Given the description of an element on the screen output the (x, y) to click on. 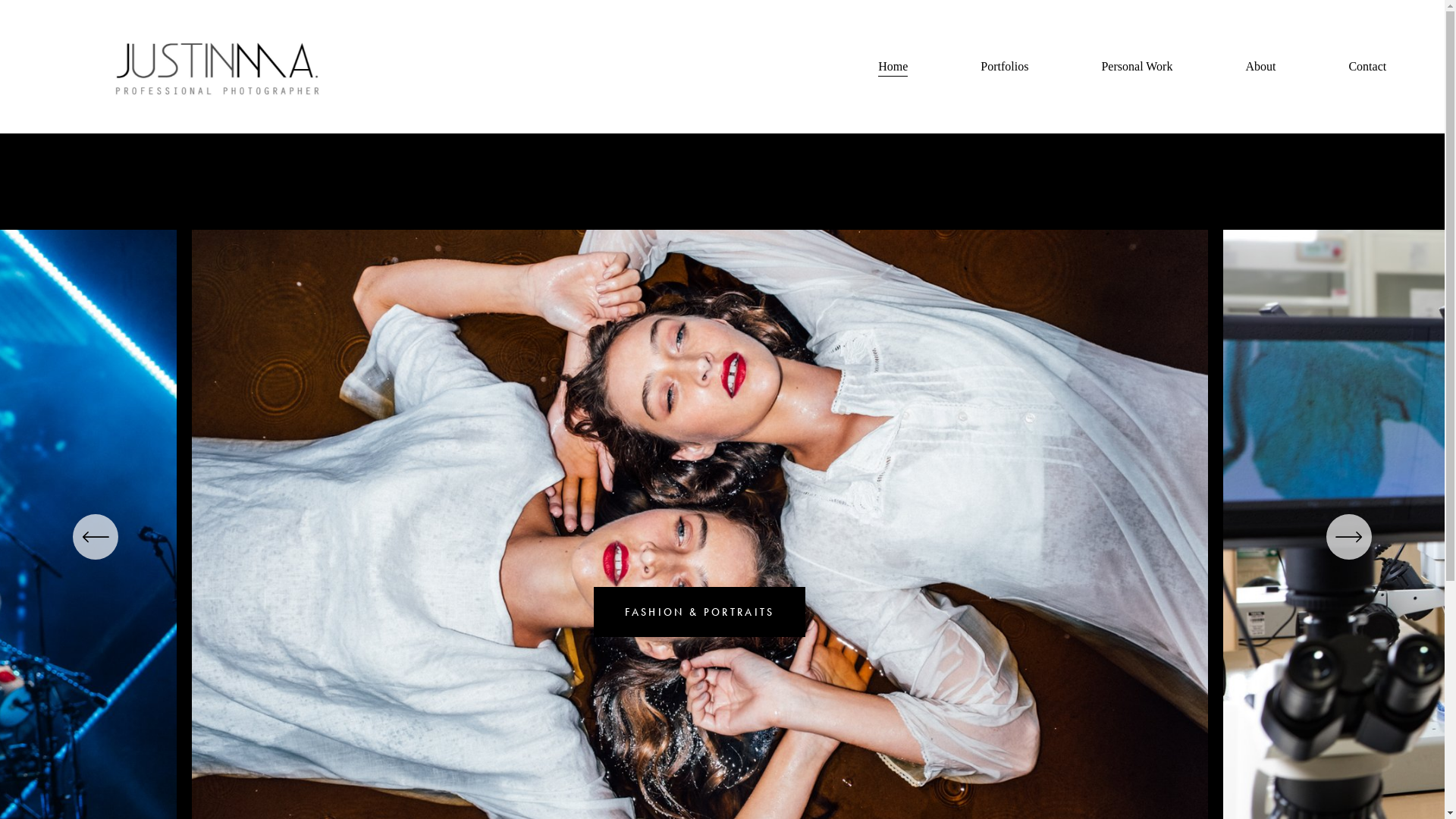
Portfolios Element type: text (1004, 66)
FASHION & PORTRAITS Element type: text (698, 611)
About Element type: text (1260, 66)
Personal Work Element type: text (1136, 66)
Contact Element type: text (1367, 66)
Home Element type: text (892, 66)
